Given the description of an element on the screen output the (x, y) to click on. 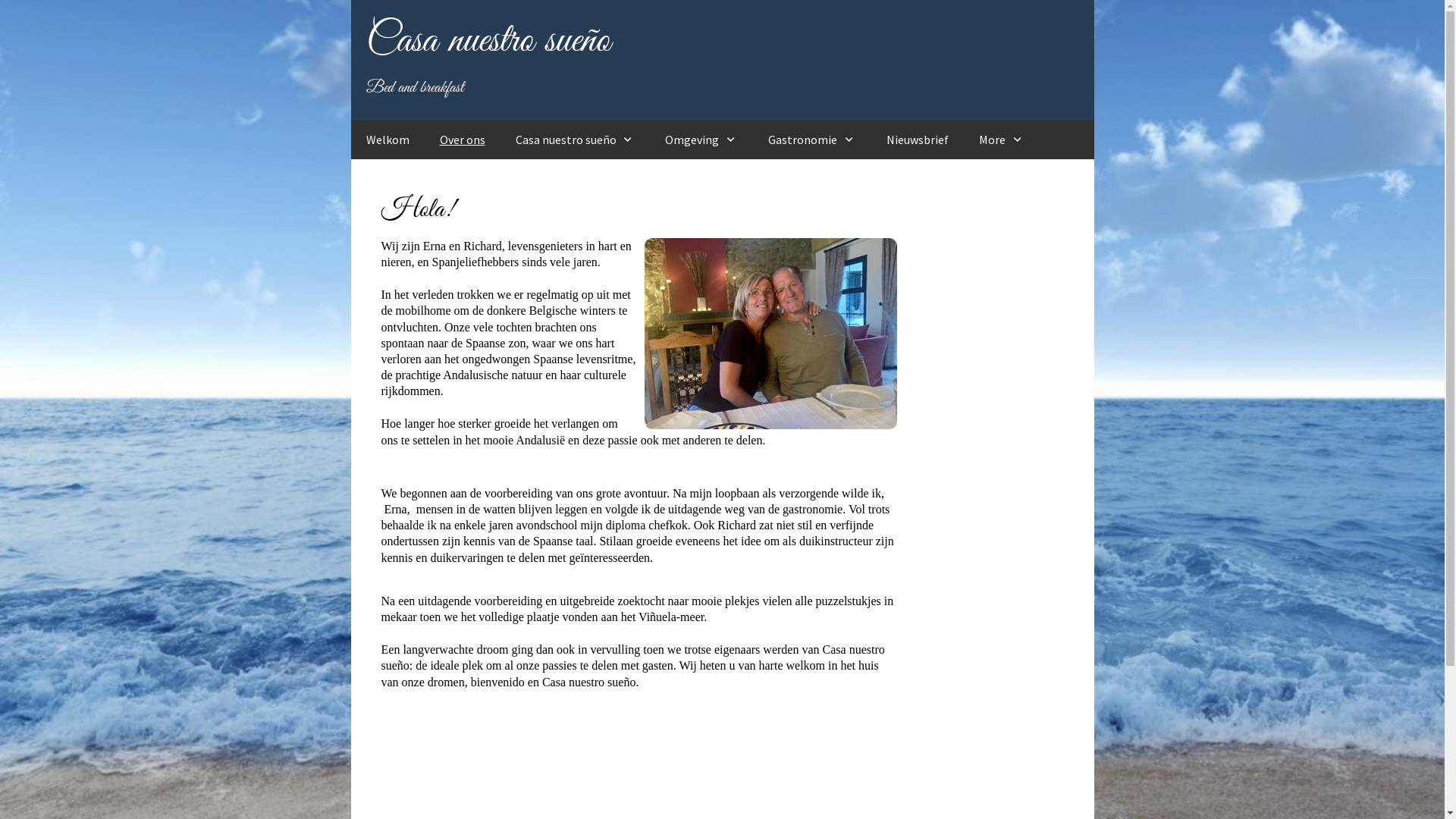
Gastronomie Element type: text (812, 139)
Over ons Element type: text (462, 139)
Nieuwsbrief Element type: text (917, 139)
Welkom Element type: text (386, 139)
Omgeving Element type: text (701, 139)
More Element type: text (1001, 139)
